Given the description of an element on the screen output the (x, y) to click on. 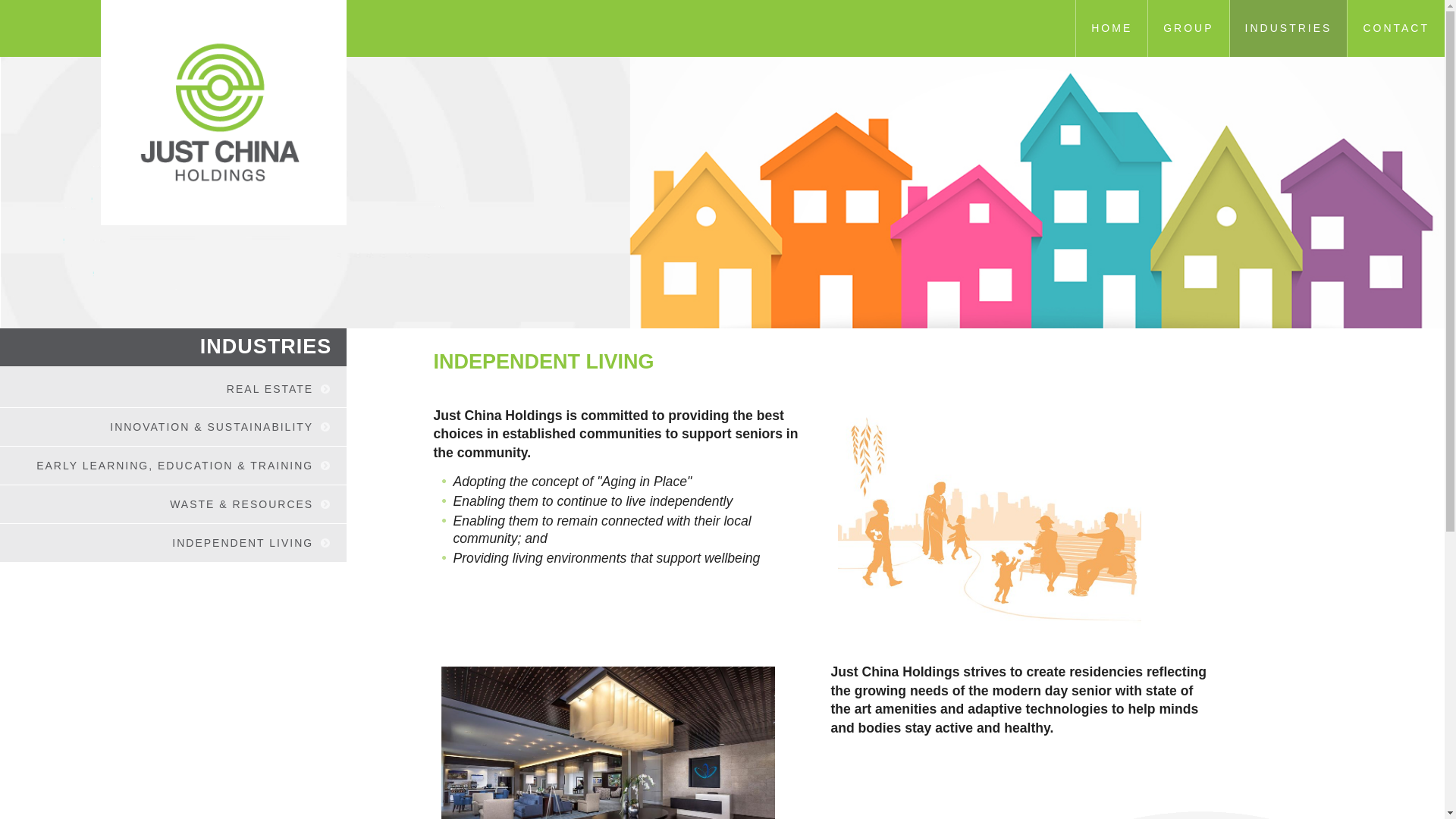
WASTE & RESOURCES Element type: text (246, 504)
INNOVATION & SUSTAINABILITY Element type: text (216, 426)
Just China Holdings Element type: hover (223, 110)
INDUSTRIES Element type: text (1288, 28)
HOME Element type: text (1111, 28)
REAL ESTATE Element type: text (274, 388)
EARLY LEARNING, EDUCATION & TRAINING Element type: text (179, 465)
CONTACT Element type: text (1395, 28)
GROUP Element type: text (1187, 28)
INDEPENDENT LIVING Element type: text (247, 542)
